Given the description of an element on the screen output the (x, y) to click on. 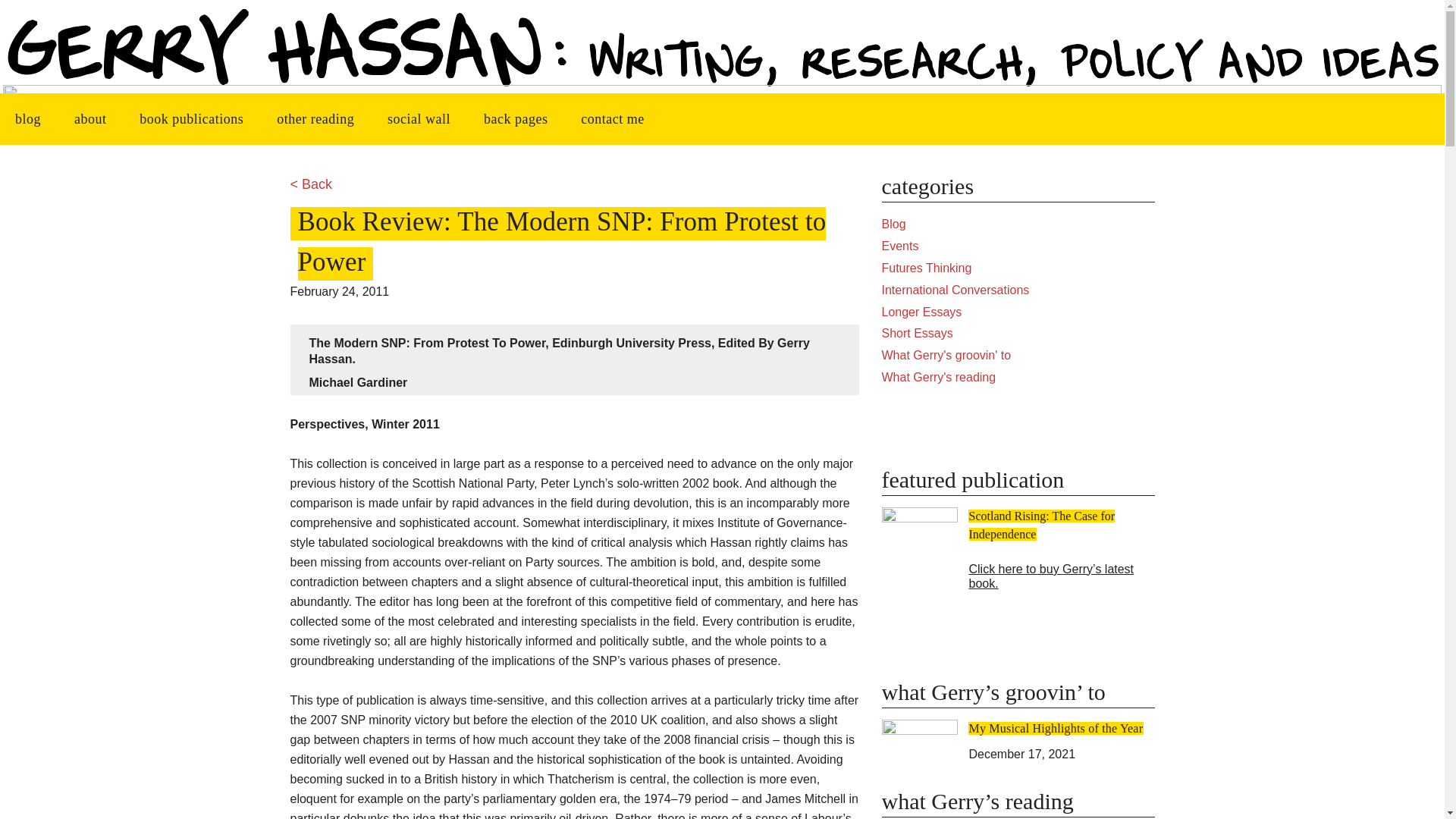
contact me (612, 118)
Blog (892, 223)
back pages (515, 118)
My Musical Highlights of the Year (1055, 727)
Events (899, 245)
Facebook (948, 424)
social wall (418, 118)
Longer Essays (920, 311)
book publications (191, 118)
Twitter (1087, 424)
